Given the description of an element on the screen output the (x, y) to click on. 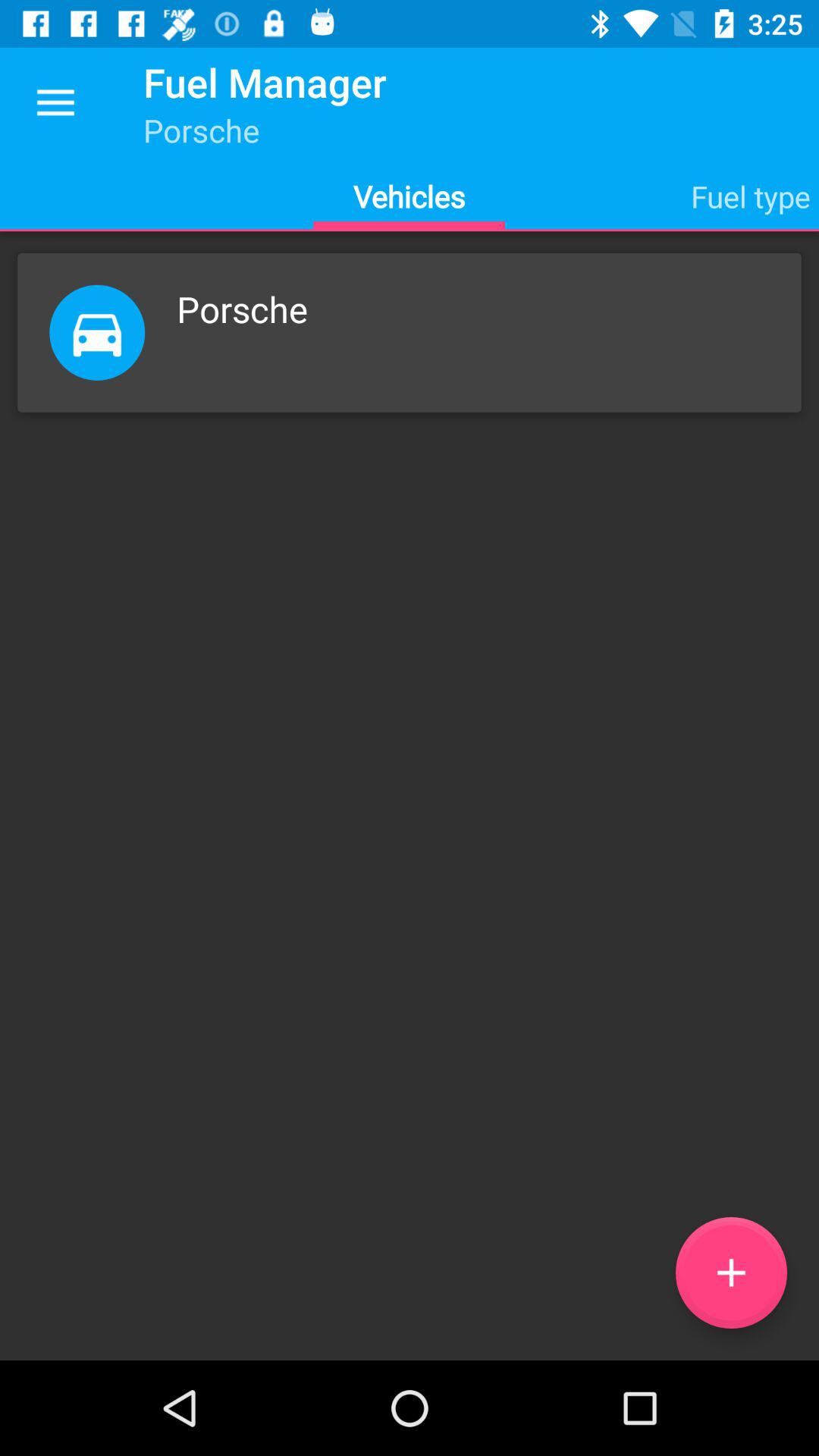
select app next to the fuel manager item (55, 103)
